Given the description of an element on the screen output the (x, y) to click on. 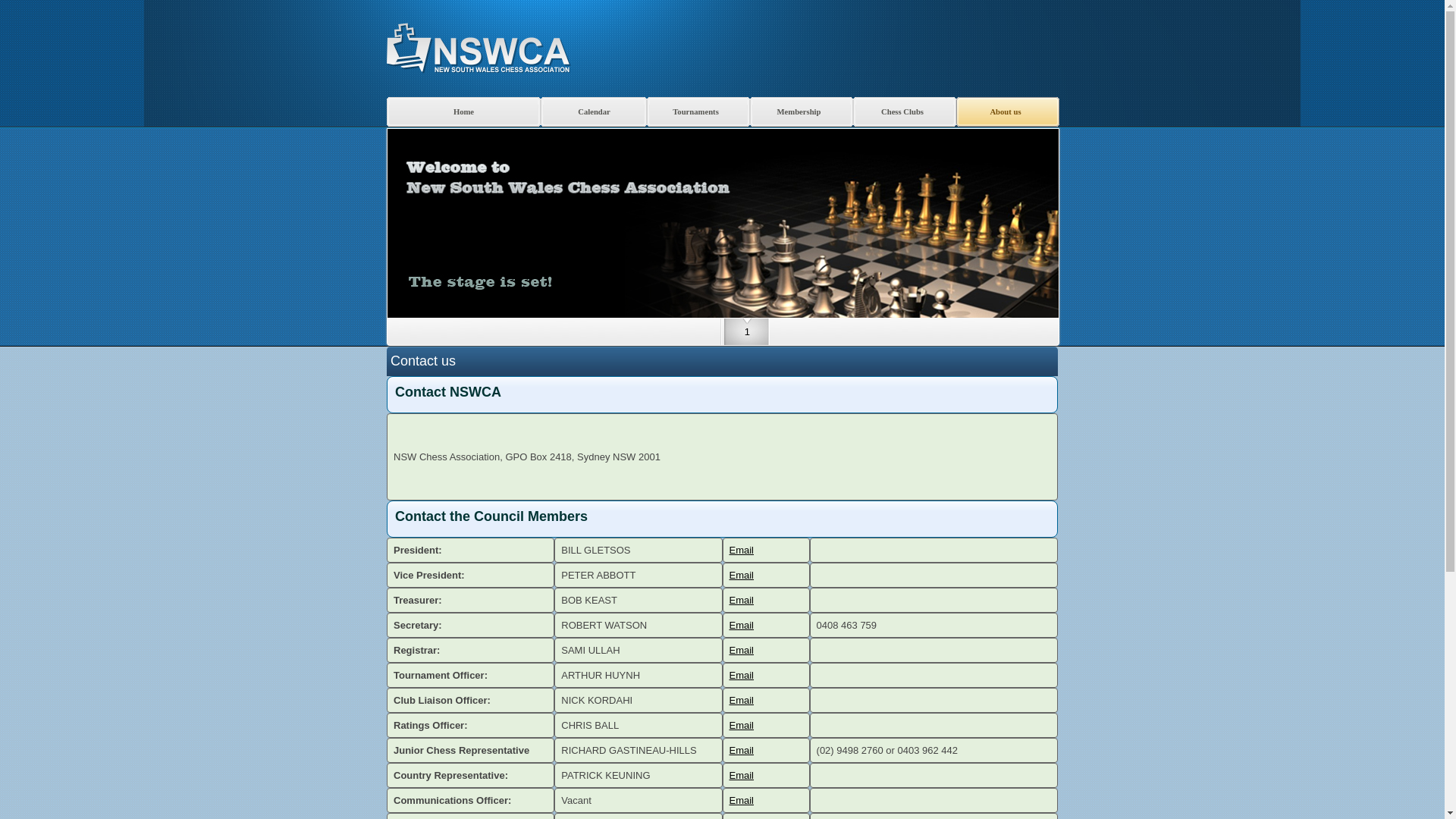
Email Element type: text (741, 649)
Email Element type: text (741, 750)
1 Element type: text (746, 335)
Email Element type: text (741, 775)
Email Element type: text (741, 599)
Email Element type: text (741, 725)
Email Element type: text (741, 800)
Email Element type: text (741, 674)
Email Element type: text (741, 574)
Membership Element type: text (801, 111)
About us Element type: text (1007, 111)
Email Element type: text (741, 700)
Tournaments Element type: text (697, 111)
Chess Clubs Element type: text (904, 111)
Calendar Element type: text (593, 111)
Email Element type: text (741, 549)
Email Element type: text (741, 624)
Home Element type: text (463, 111)
